Given the description of an element on the screen output the (x, y) to click on. 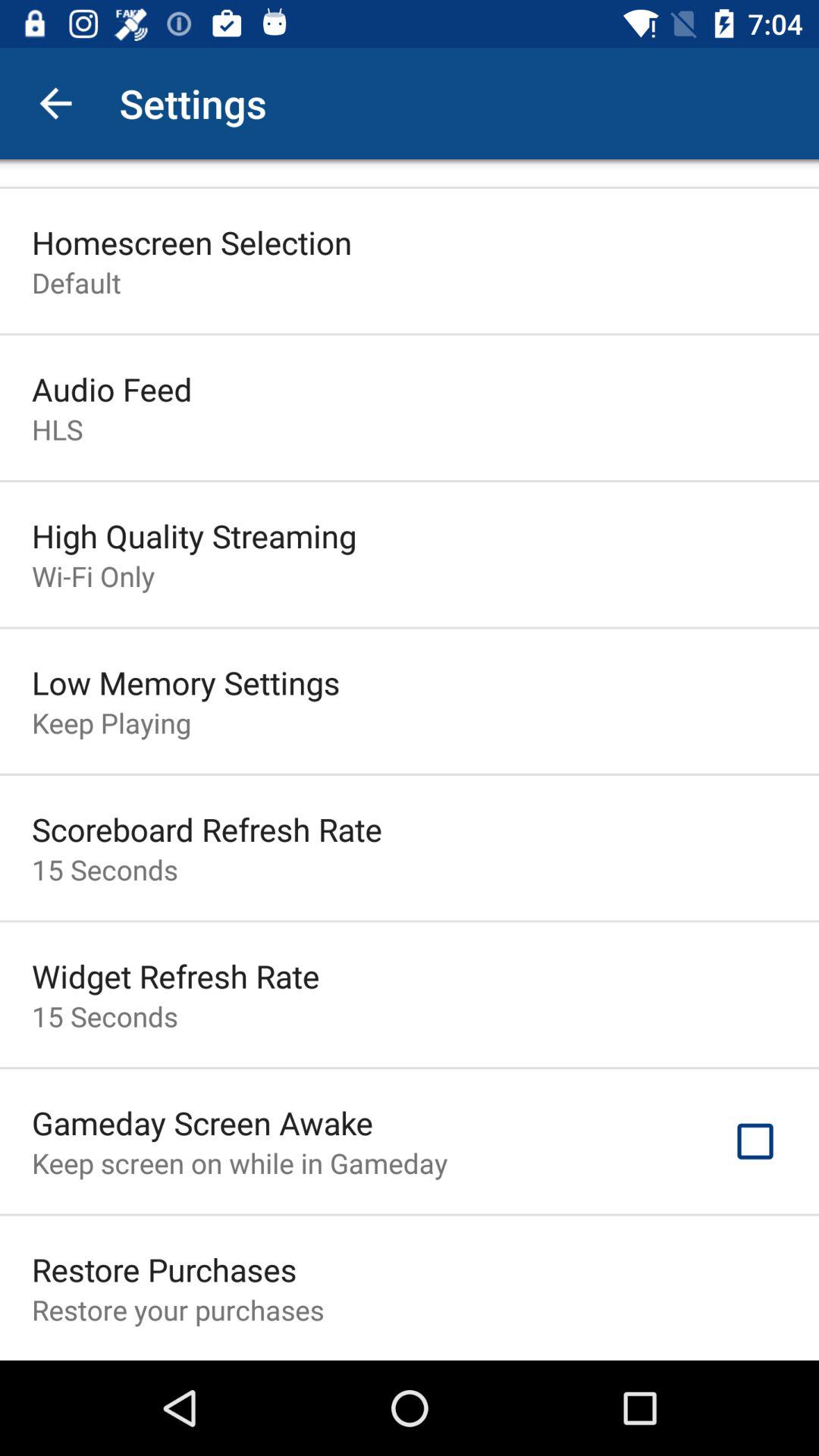
click item above hls (111, 388)
